Given the description of an element on the screen output the (x, y) to click on. 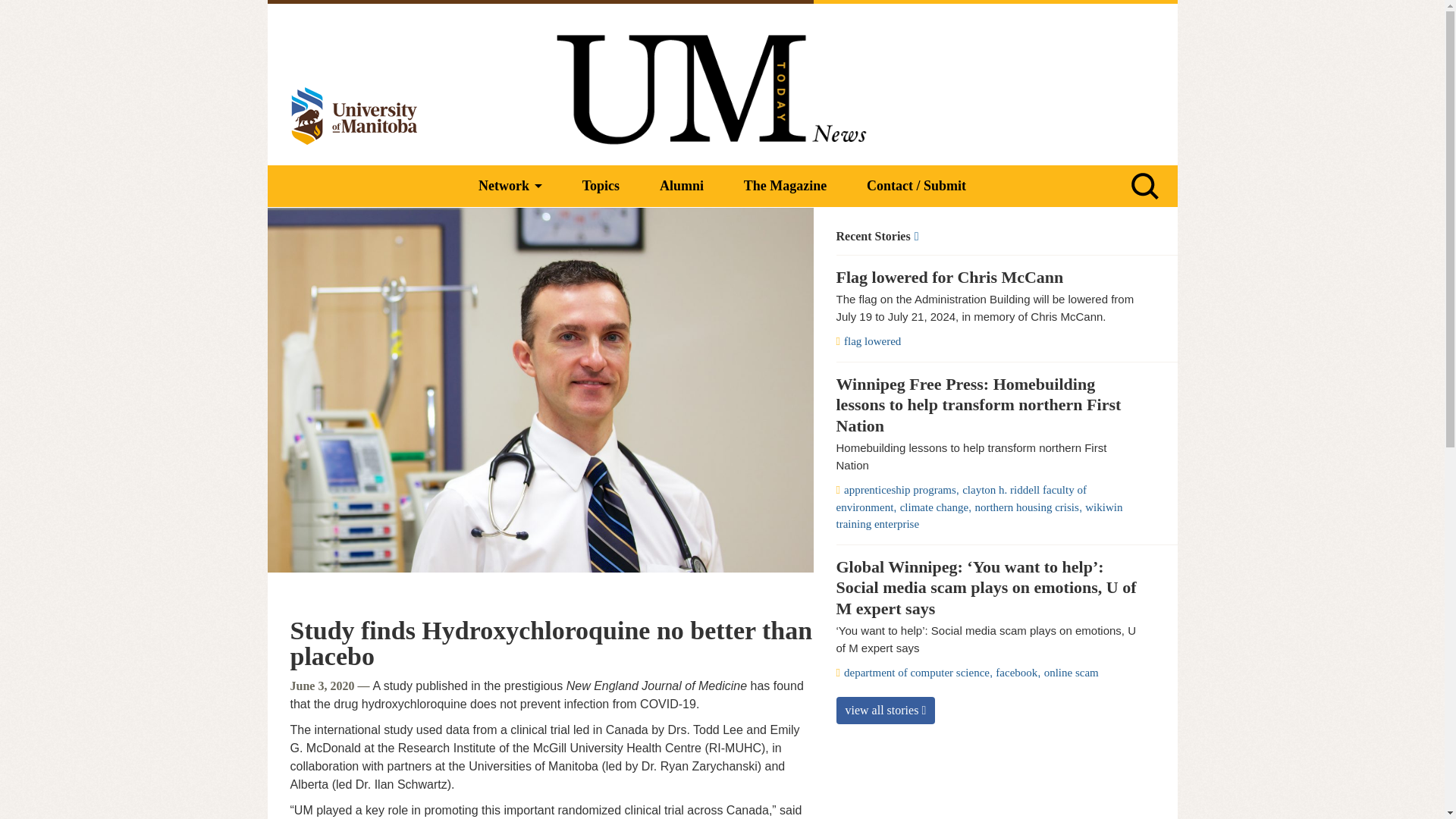
Flag lowered for Chris McCann (986, 277)
Network (510, 186)
News Archives (986, 236)
